Given the description of an element on the screen output the (x, y) to click on. 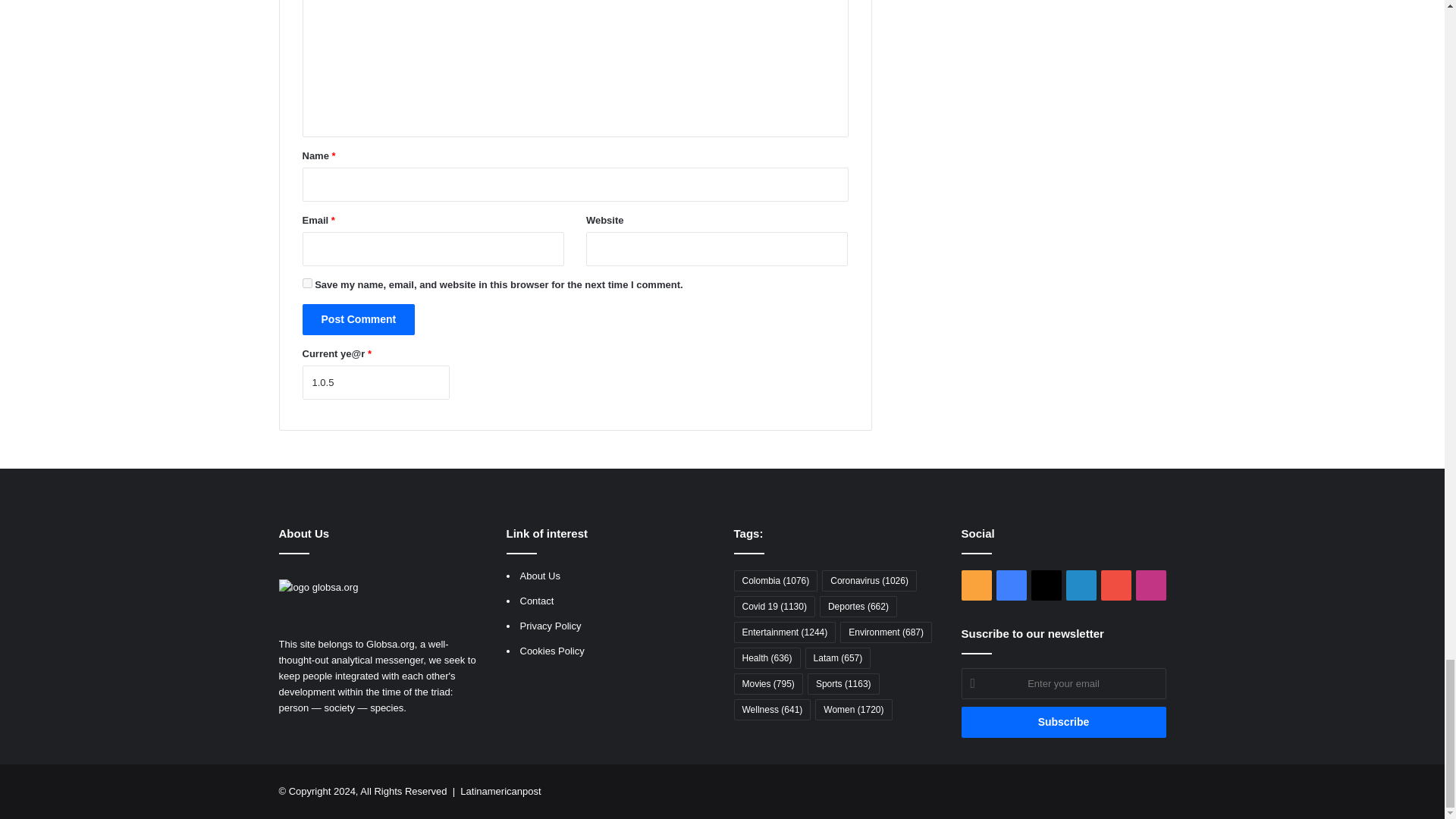
Post Comment (357, 318)
Subscribe (1063, 721)
yes (306, 283)
1.0.5 (374, 382)
